Given the description of an element on the screen output the (x, y) to click on. 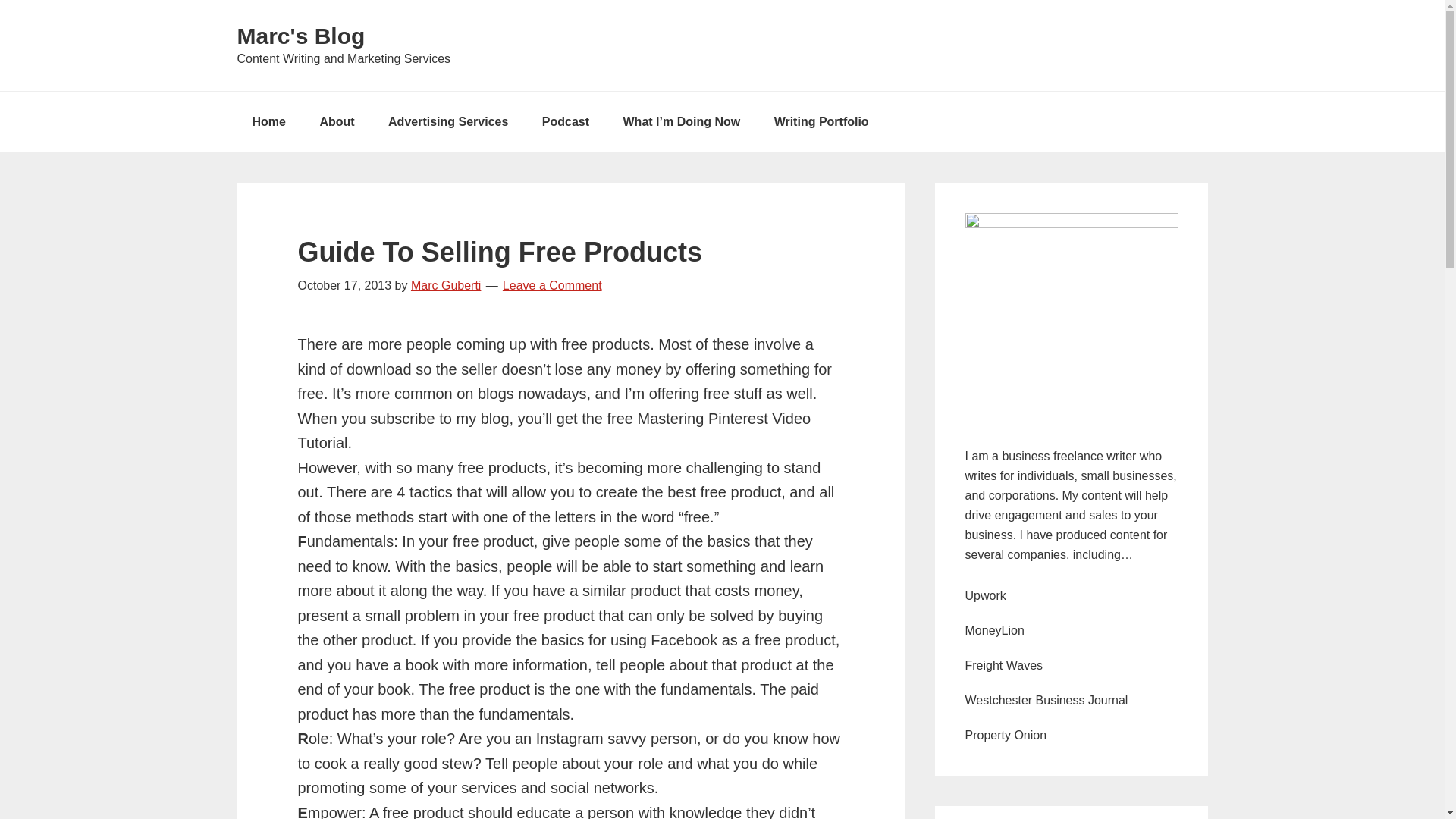
Marc's Blog (300, 35)
About (336, 121)
Podcast (565, 121)
Marc Guberti (445, 285)
Advertising Services (447, 121)
Writing Portfolio (820, 121)
Leave a Comment (552, 285)
Home (267, 121)
